Given the description of an element on the screen output the (x, y) to click on. 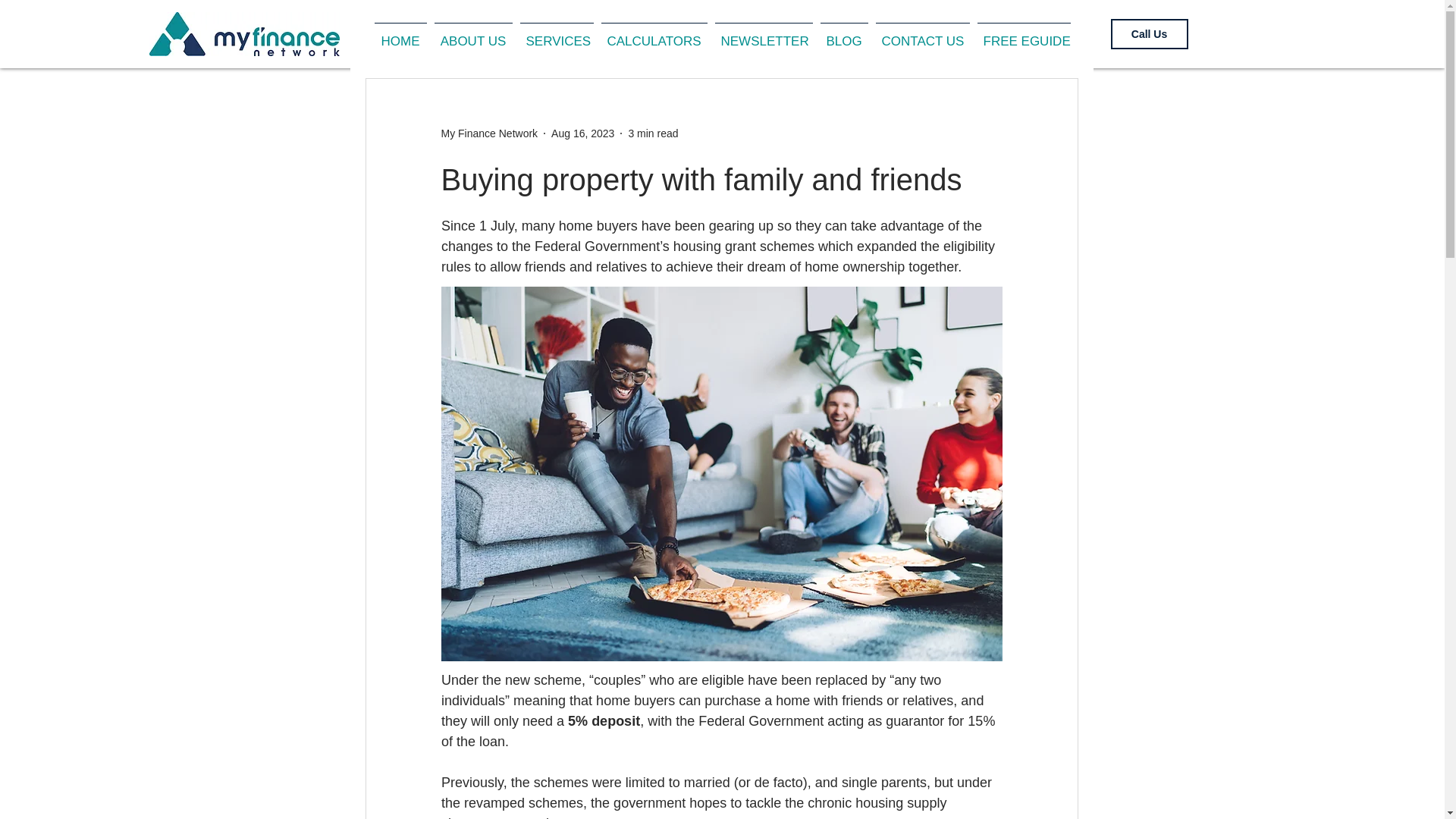
BLOG (842, 33)
FREE EGUIDE (1024, 33)
3 min read (652, 133)
HOME (399, 33)
CALCULATORS (653, 33)
NEWSLETTER (763, 33)
CONTACT US (923, 33)
ABOUT US (473, 33)
My Finance Network (489, 133)
SERVICES (555, 33)
